Given the description of an element on the screen output the (x, y) to click on. 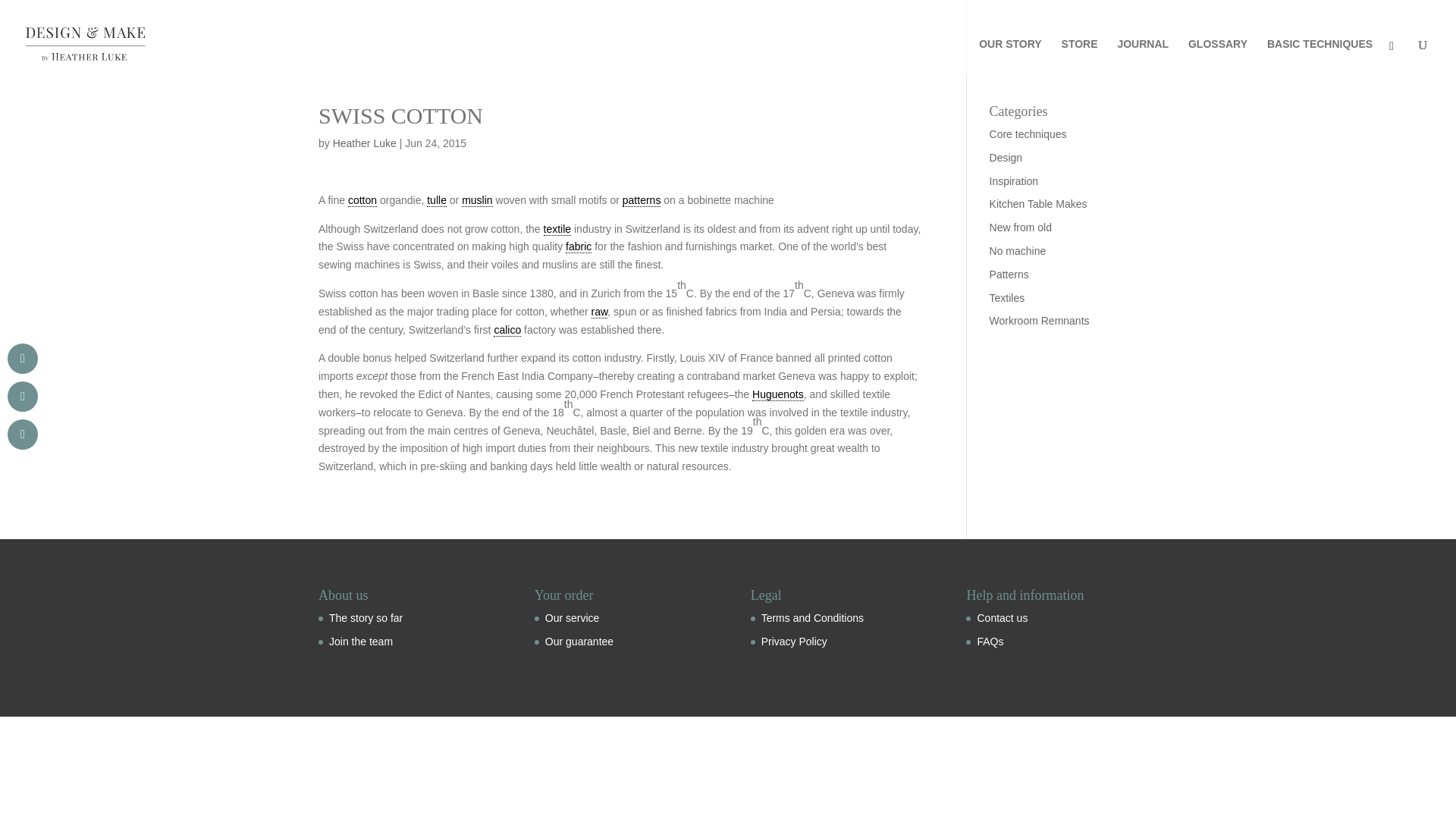
BASIC TECHNIQUES (1319, 56)
patterns (642, 200)
Our service (571, 617)
calico (507, 329)
Contact us (1001, 617)
fabric (578, 246)
tulle (436, 200)
GLOSSARY (1217, 56)
Join the team (361, 641)
New from old (1020, 227)
Design (1006, 157)
Workroom Remnants (1039, 320)
Textiles (1007, 297)
raw (599, 311)
Posts by Heather Luke (364, 143)
